Given the description of an element on the screen output the (x, y) to click on. 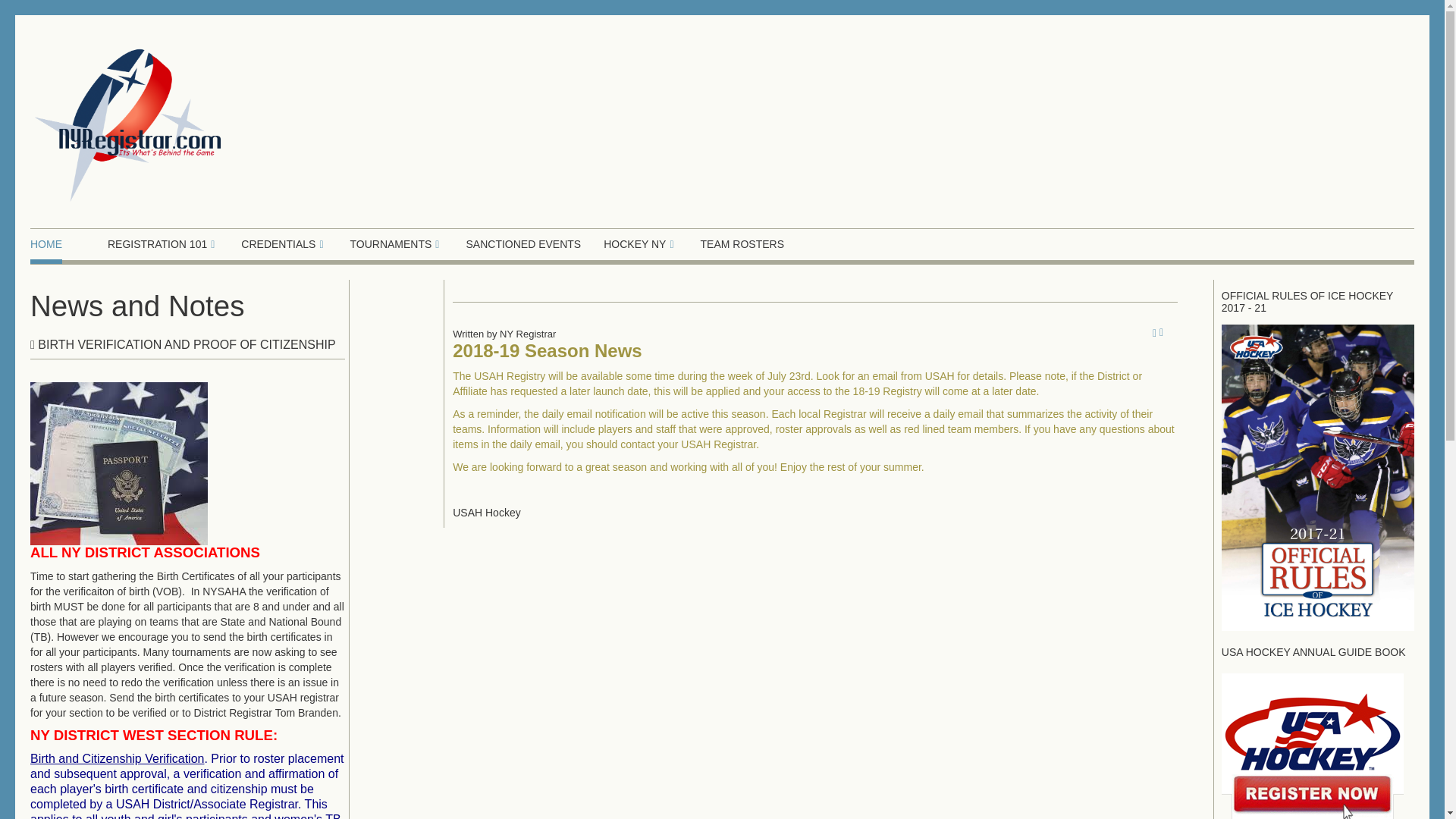
TOURNAMENTS (397, 244)
USAH Online Registration 2 (1312, 747)
SANCTIONED EVENTS (522, 244)
HOCKEY NY (640, 244)
TEAM ROSTERS (742, 244)
CREDENTIALS (283, 244)
HOME (46, 244)
REGISTRATION 101 (162, 244)
